Given the description of an element on the screen output the (x, y) to click on. 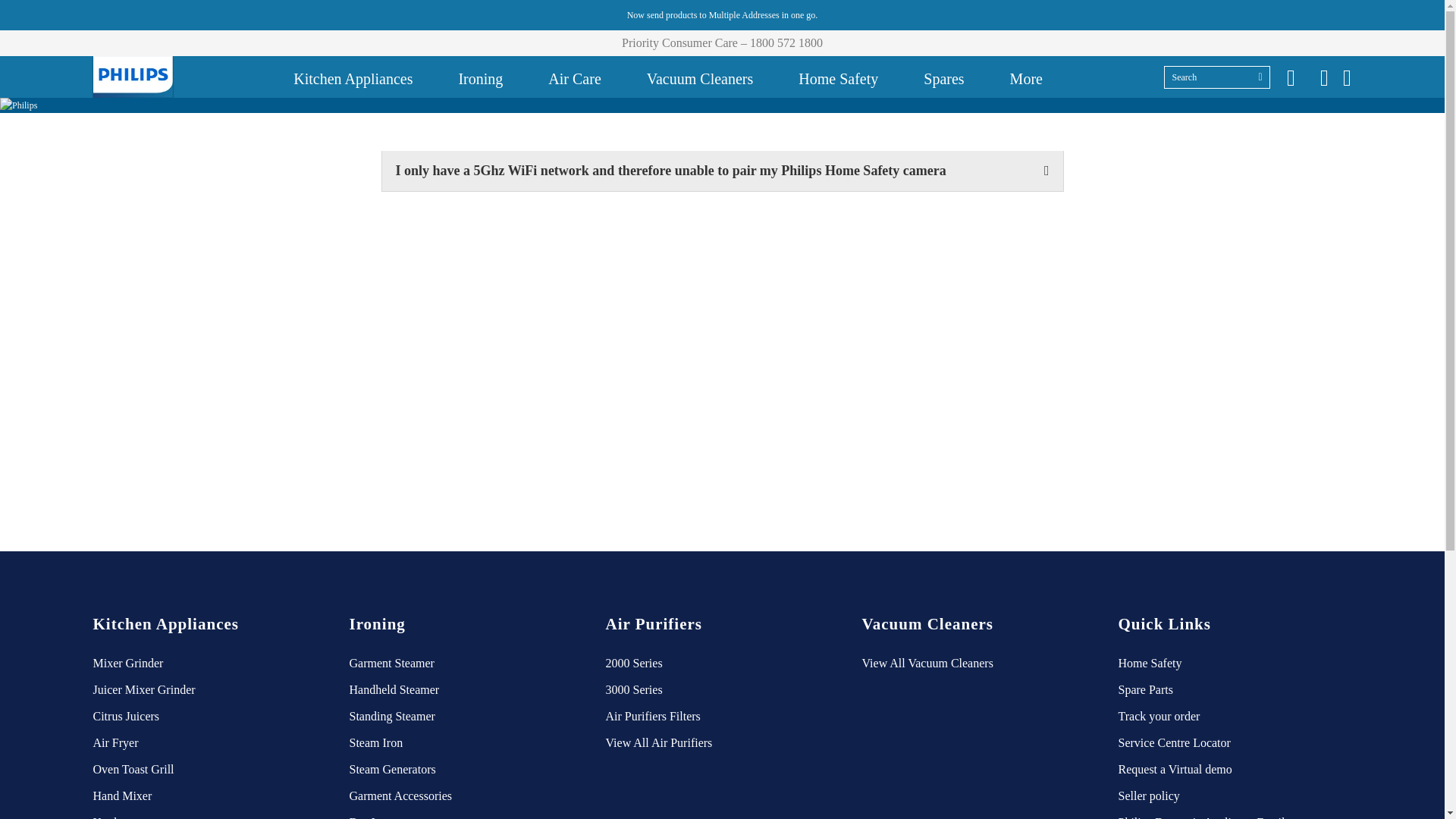
Now send products to Multiple Addresses in one go. (722, 15)
Philips Domestic Appliances (132, 76)
Kitchen Appliances (353, 76)
My Wish List (1291, 77)
Cart (1346, 78)
My Account (1323, 78)
